Given the description of an element on the screen output the (x, y) to click on. 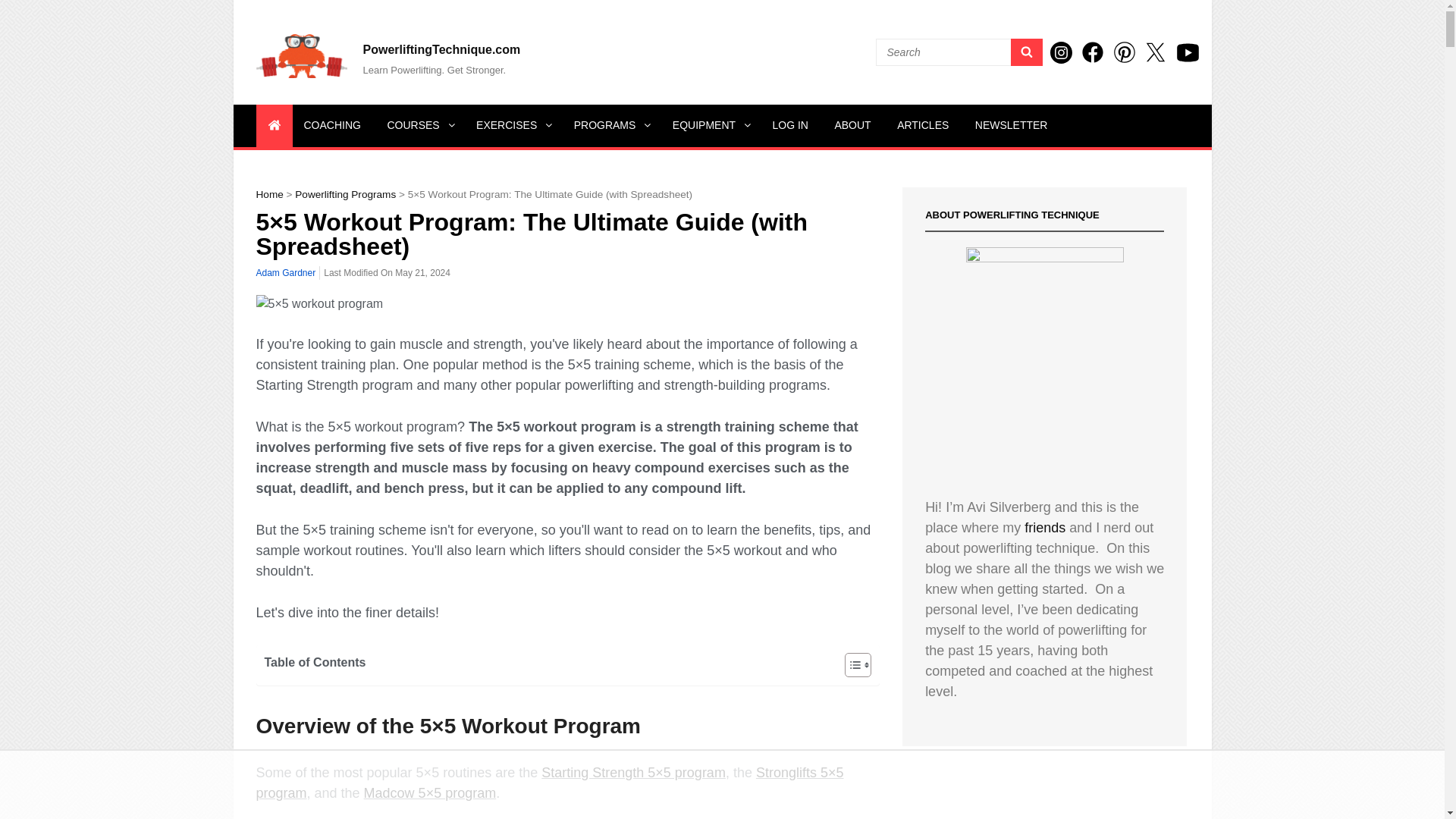
PowerliftingTechnique.com (440, 49)
EQUIPMENT (709, 125)
PROGRAMS (610, 125)
COACHING (332, 125)
COURSES (418, 125)
EXERCISES (511, 125)
